Given the description of an element on the screen output the (x, y) to click on. 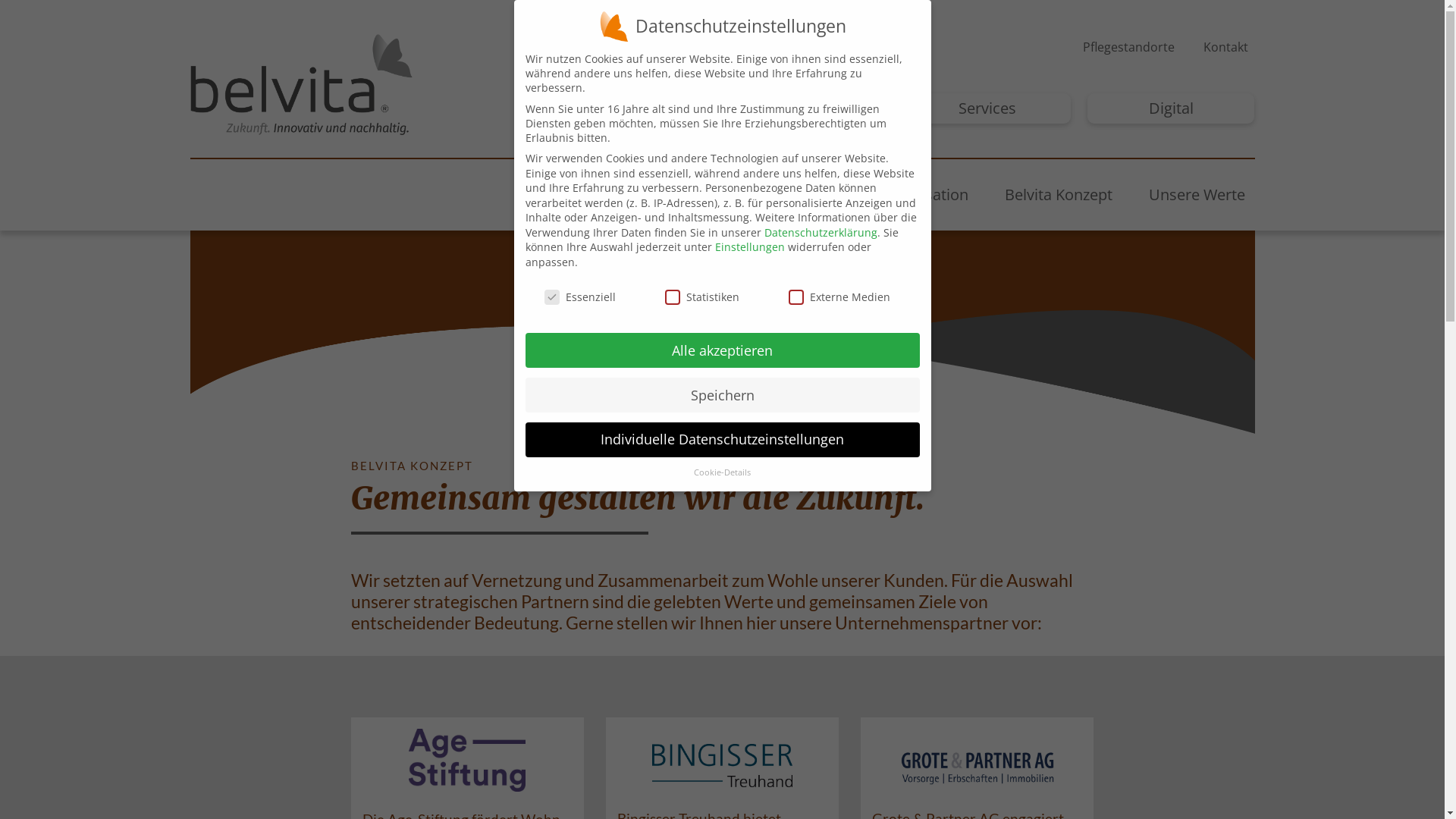
Belvita Konzept Element type: text (1058, 194)
Einstellungen Element type: text (749, 246)
Logo Grote & Partner AG_Vorsorge 04 Element type: hover (977, 767)
Individuelle Datenschutzeinstellungen Element type: text (721, 439)
Unternehmen Element type: text (619, 108)
Speichern Element type: text (721, 394)
Unsere Werte Element type: text (1197, 194)
Organisation Element type: text (922, 194)
Pflege Element type: text (803, 108)
Pflegestandorte Element type: text (1128, 46)
Services Element type: text (986, 108)
Digital Element type: text (1170, 108)
Alle akzeptieren Element type: text (721, 349)
Home Element type: text (674, 194)
Kontakt Element type: text (1225, 46)
Cookie-Details Element type: text (721, 472)
